Given the description of an element on the screen output the (x, y) to click on. 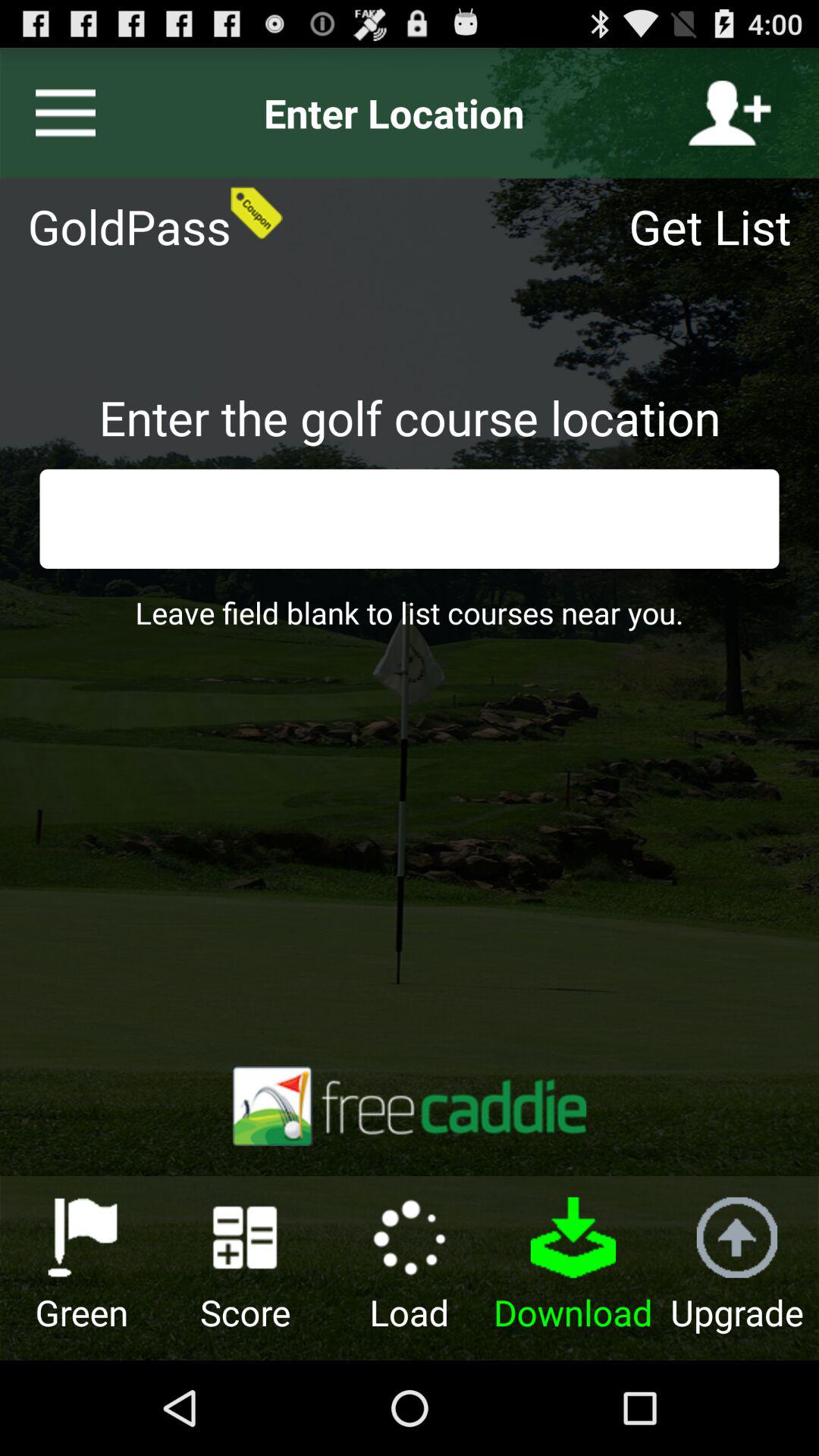
show the menu (59, 112)
